Given the description of an element on the screen output the (x, y) to click on. 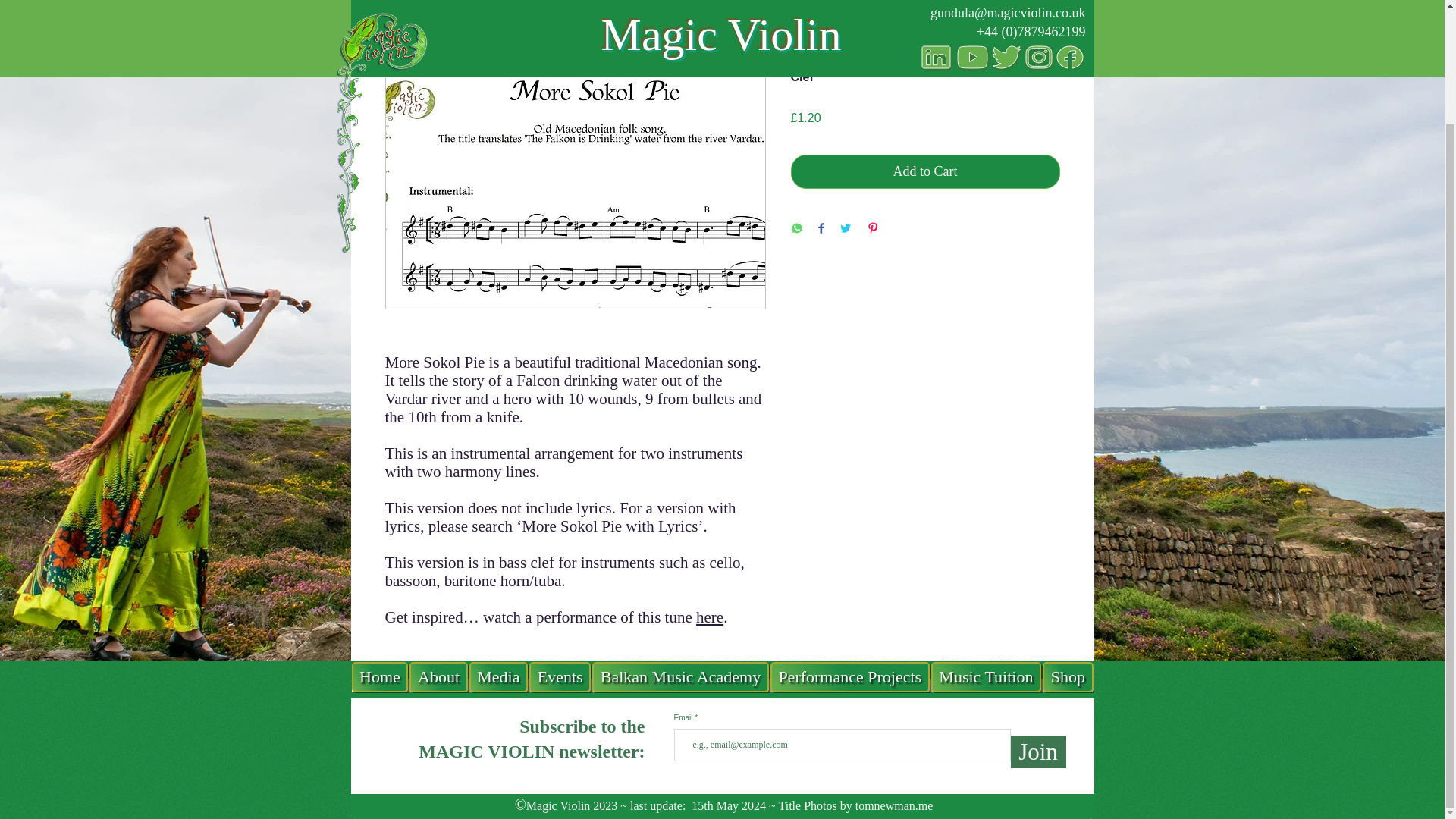
Home (380, 541)
Music Tuition (986, 541)
Events (560, 541)
Join (1037, 615)
About (438, 541)
Shop (1067, 541)
here (709, 617)
Add to Cart (924, 171)
Home (404, 3)
More Sokol Pie - Instrumental Version in Bass Clef (598, 3)
